Given the description of an element on the screen output the (x, y) to click on. 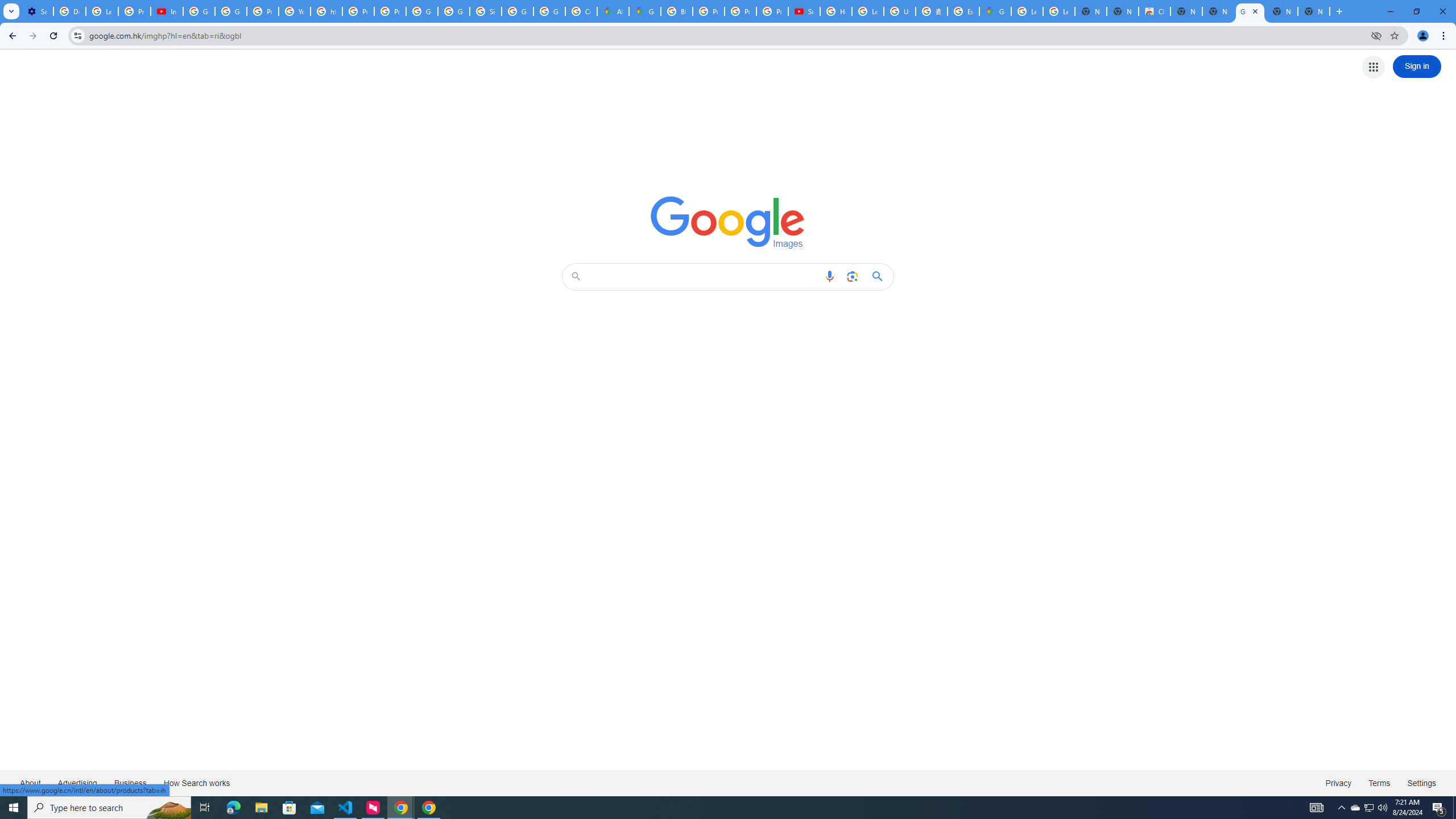
Introduction | Google Privacy Policy - YouTube (166, 11)
Google Search (880, 276)
Create your Google Account (581, 11)
https://scholar.google.com/ (326, 11)
Privacy Help Center - Policies Help (358, 11)
Google Images (727, 222)
